Given the description of an element on the screen output the (x, y) to click on. 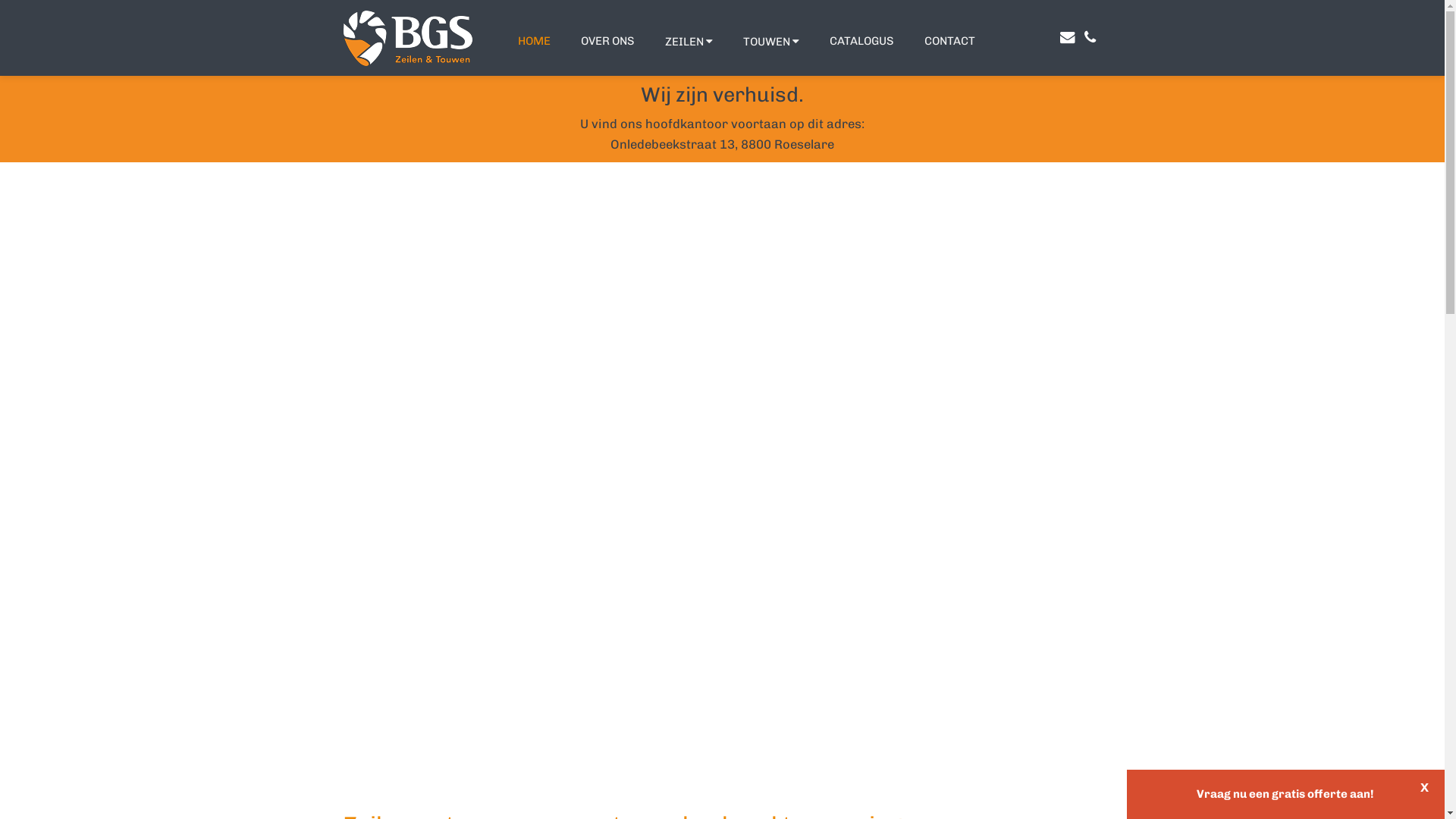
OVER ONS Element type: text (607, 39)
HOME Element type: text (533, 39)
CATALOGUS Element type: text (861, 39)
x Element type: text (1424, 786)
CONTACT Element type: text (948, 39)
rope-ropes-knot-woven-57396 Element type: text (722, 464)
TOUWEN Element type: text (771, 40)
ZEILEN Element type: text (688, 40)
